Given the description of an element on the screen output the (x, y) to click on. 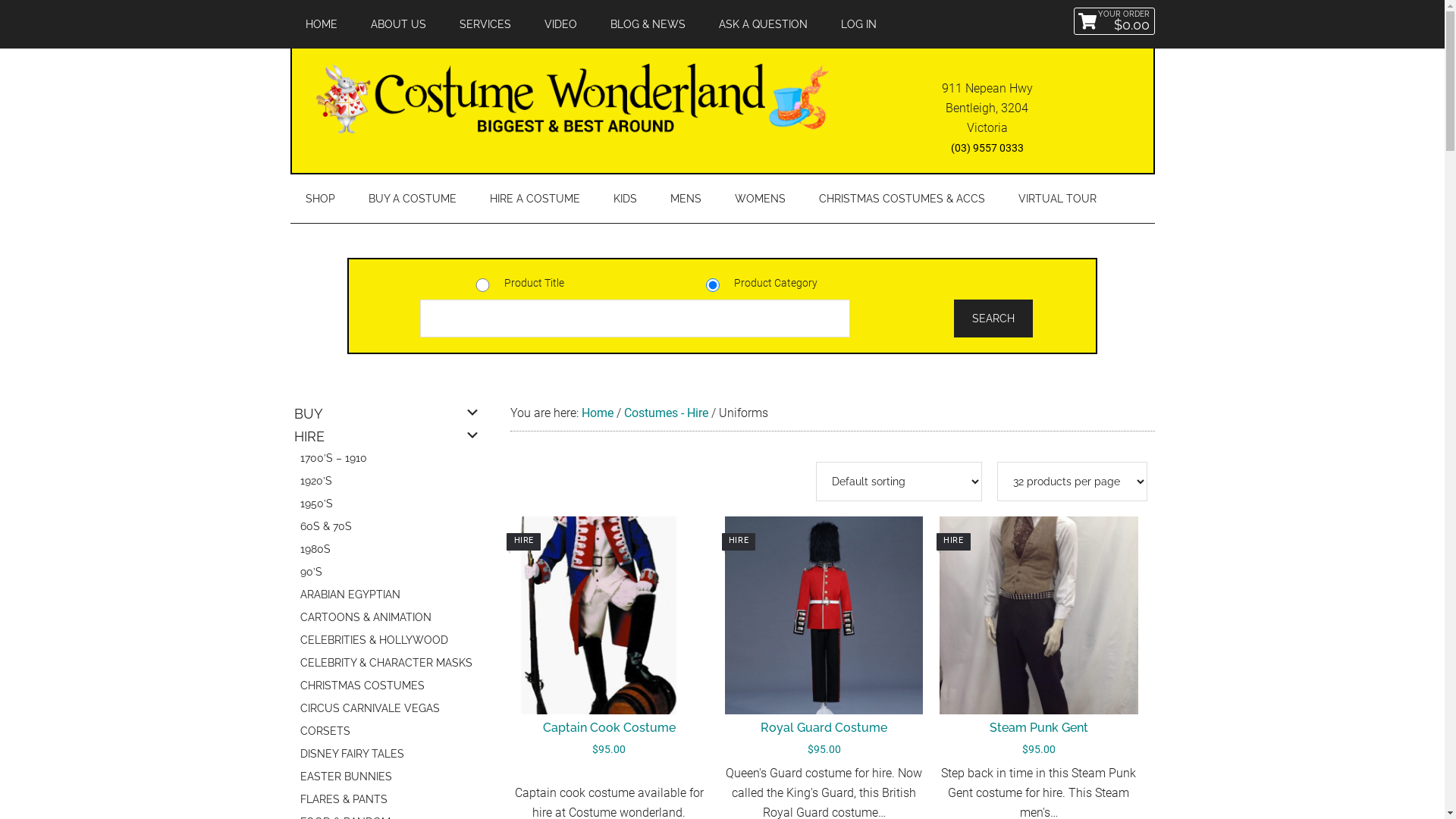
KIDS Element type: text (624, 198)
(03) 9557 0333 Element type: text (986, 147)
CELEBRITY & CHARACTER MASKS Element type: text (386, 664)
FLARES & PANTS Element type: text (386, 801)
EASTER BUNNIES Element type: text (386, 778)
ARABIAN EGYPTIAN Element type: text (386, 596)
BUY Element type: text (380, 414)
HIRE
Captain Cook Costume
$95.00 Element type: text (608, 639)
MENS Element type: text (685, 198)
Costumes - Hire Element type: text (665, 412)
ASK A QUESTION Element type: text (762, 24)
BUY A COSTUME Element type: text (412, 198)
VIRTUAL TOUR Element type: text (1056, 198)
ABOUT US Element type: text (397, 24)
HIRE A COSTUME Element type: text (534, 198)
CHRISTMAS COSTUMES & ACCS Element type: text (901, 198)
VIDEO Element type: text (560, 24)
Search Element type: text (992, 318)
SERVICES Element type: text (485, 24)
Home Element type: text (596, 412)
CELEBRITIES & HOLLYWOOD Element type: text (386, 641)
LOG IN Element type: text (858, 24)
HOME Element type: text (320, 24)
DISNEY FAIRY TALES Element type: text (386, 755)
CARTOONS & ANIMATION Element type: text (386, 619)
HIRE
Steam Punk Gent
$95.00 Element type: text (1038, 639)
BLOG & NEWS Element type: text (646, 24)
HIRE Element type: text (380, 437)
CIRCUS CARNIVALE VEGAS Element type: text (386, 710)
CORSETS Element type: text (386, 732)
WOMENS Element type: text (759, 198)
CHRISTMAS COSTUMES Element type: text (386, 687)
SUBMENU Element type: text (471, 434)
SUBMENU Element type: text (471, 412)
1980S Element type: text (386, 550)
SHOP Element type: text (319, 198)
Skip to main content Element type: text (0, 0)
60S & 70S Element type: text (386, 528)
HIRE
Royal Guard Costume
$95.00 Element type: text (823, 639)
